Given the description of an element on the screen output the (x, y) to click on. 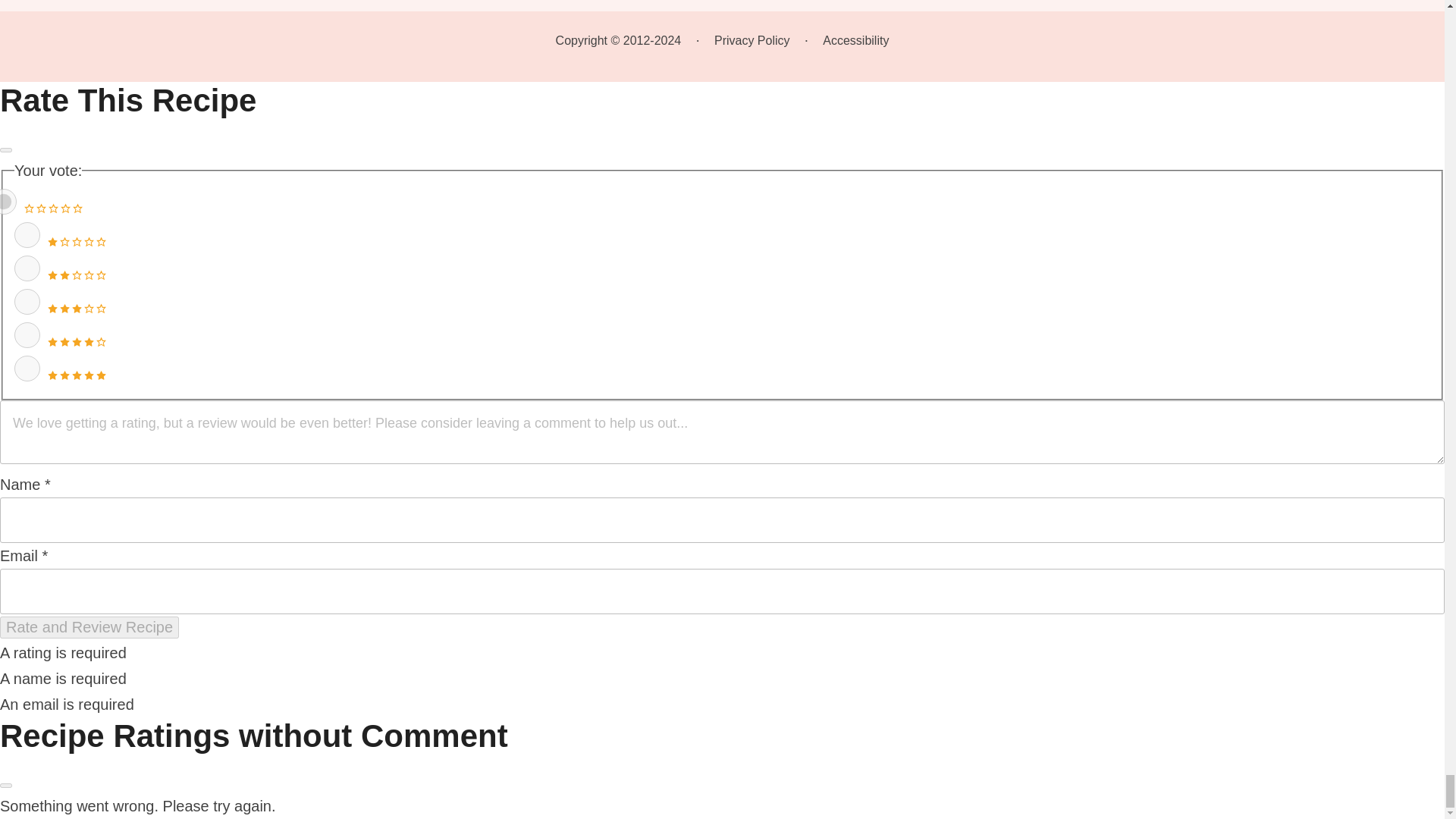
5 (27, 368)
3 (27, 301)
4 (27, 335)
1 (27, 234)
2 (27, 268)
